Given the description of an element on the screen output the (x, y) to click on. 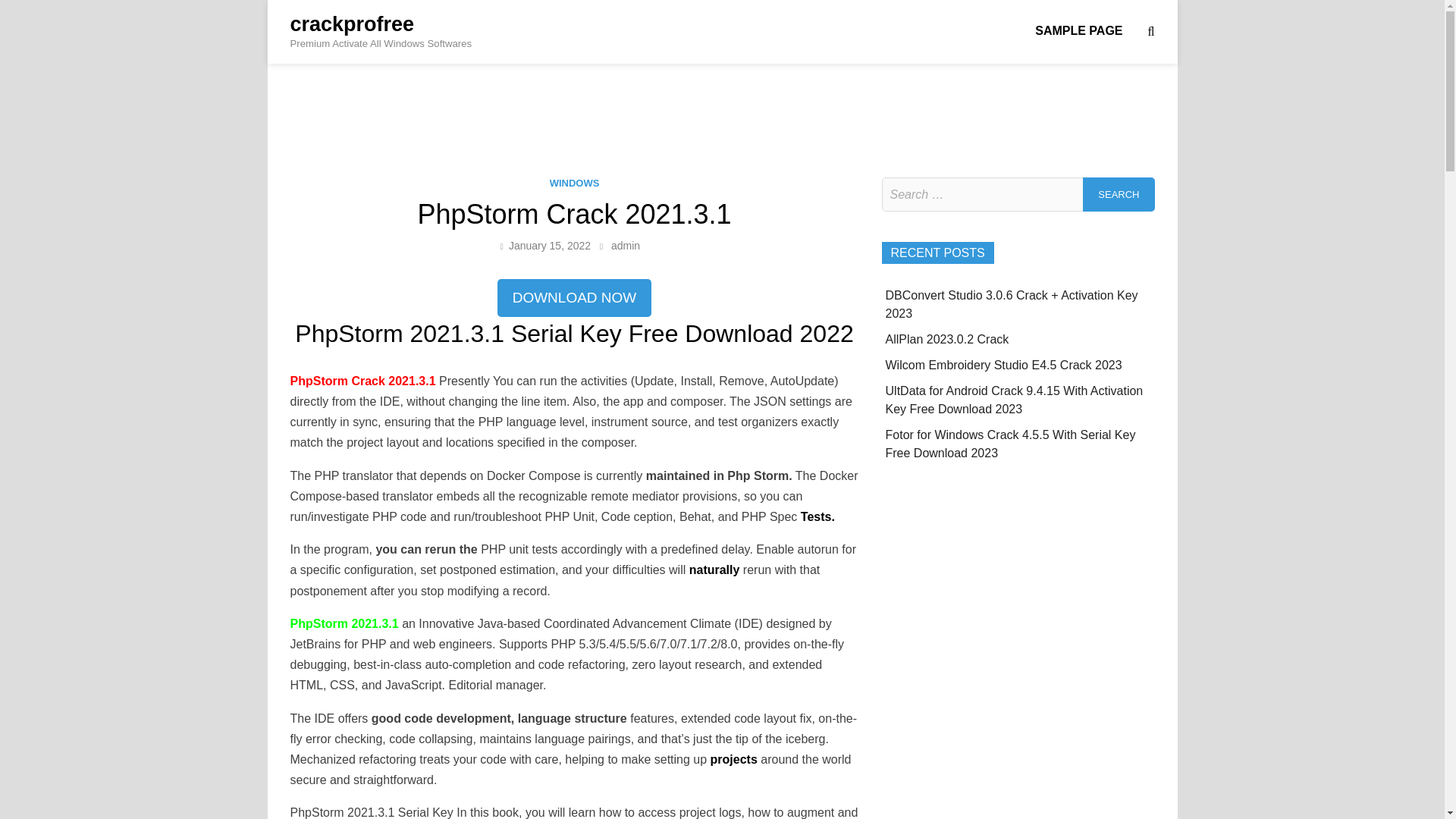
Search (1118, 194)
WINDOWS (574, 183)
naturally (713, 569)
PhpStorm 2021.3.1 (343, 623)
Search (1118, 194)
projects (733, 758)
admin (625, 245)
PhpStorm Crack 2021.3.1 (364, 380)
DOWNLOAD NOW (574, 298)
January 15, 2022 (549, 245)
